Given the description of an element on the screen output the (x, y) to click on. 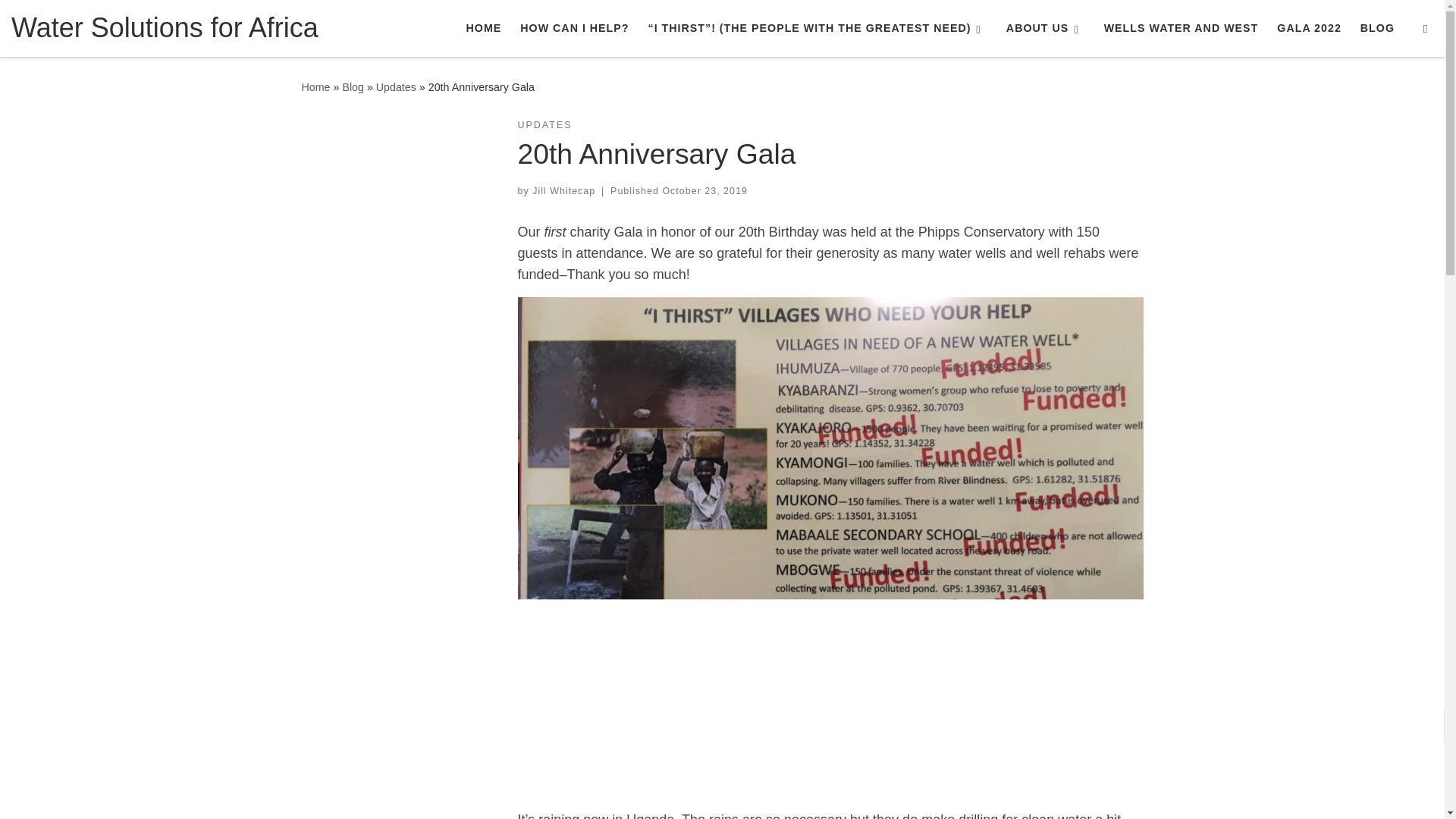
Home (315, 87)
GALA 2022 (1308, 28)
BLOG (1377, 28)
Water Solutions for Africa (315, 87)
Water Solutions for Africa (164, 27)
View all posts in Updates (544, 124)
6:50 pm (704, 190)
HOW CAN I HELP? (574, 28)
Blog (353, 87)
October 23, 2019 (704, 190)
